Given the description of an element on the screen output the (x, y) to click on. 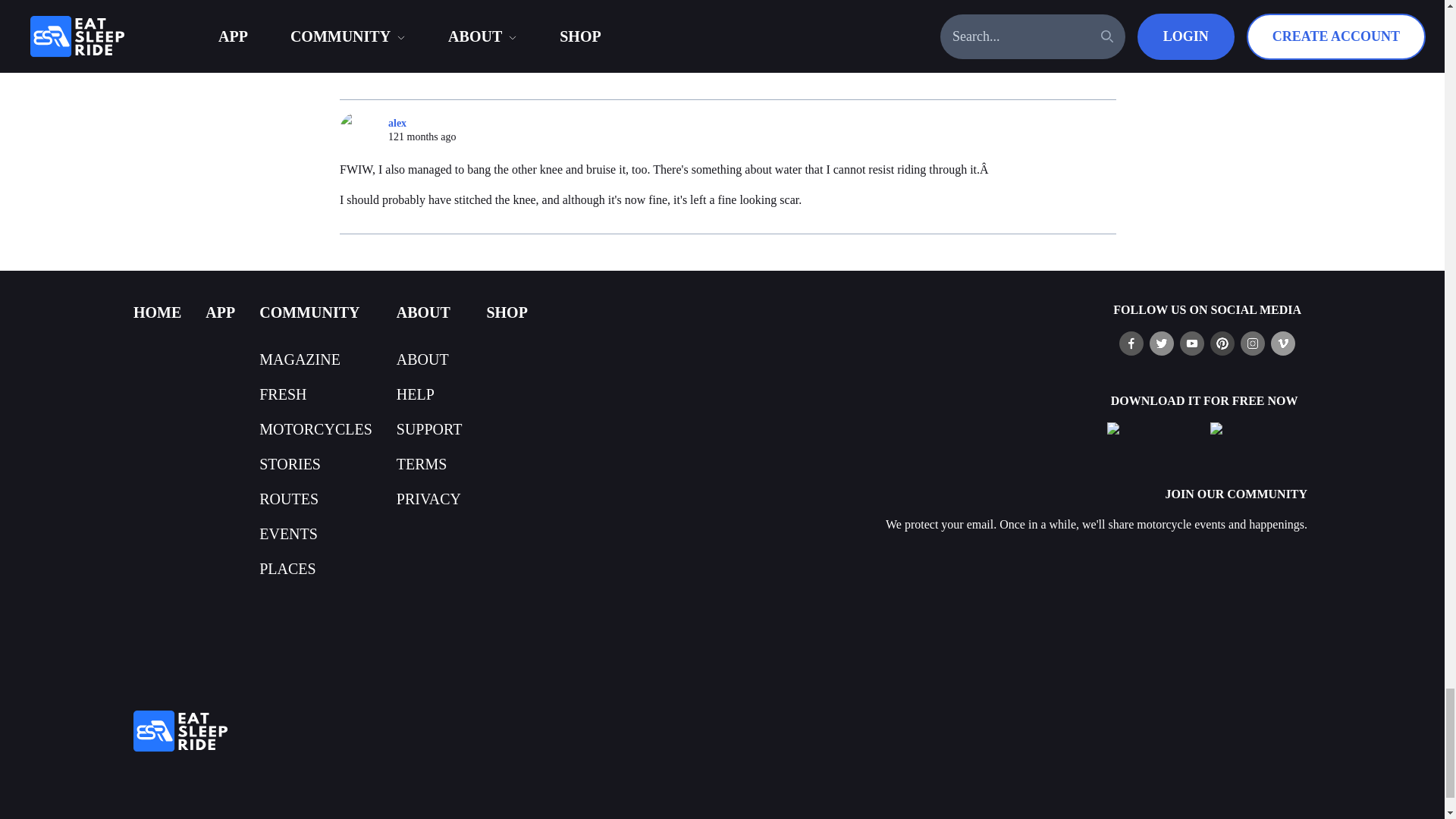
alex (363, 130)
Go to EatSleepRide Home (497, 731)
app (219, 312)
alex (363, 13)
Home (156, 312)
